Given the description of an element on the screen output the (x, y) to click on. 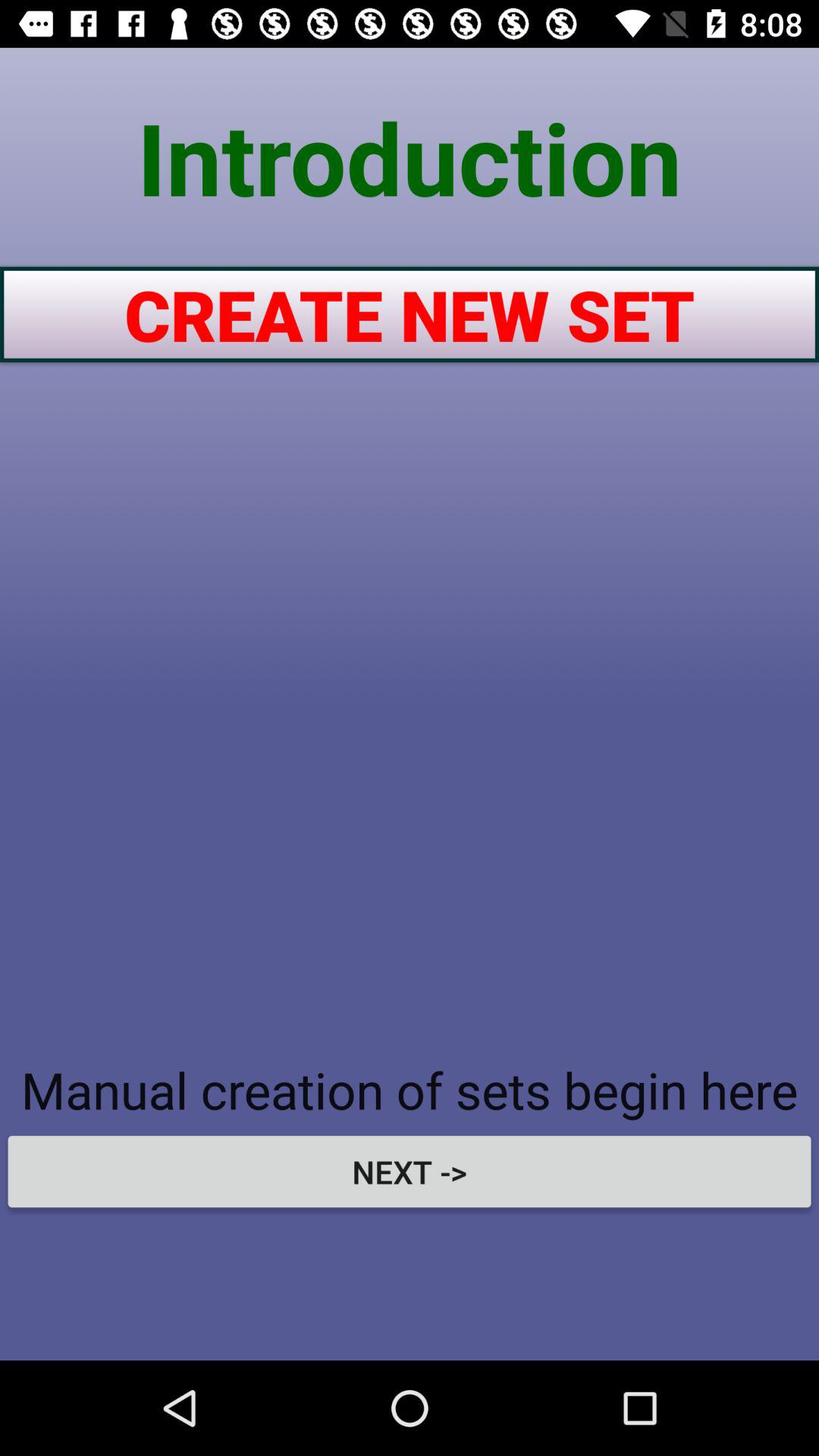
open create new set button (409, 314)
